Given the description of an element on the screen output the (x, y) to click on. 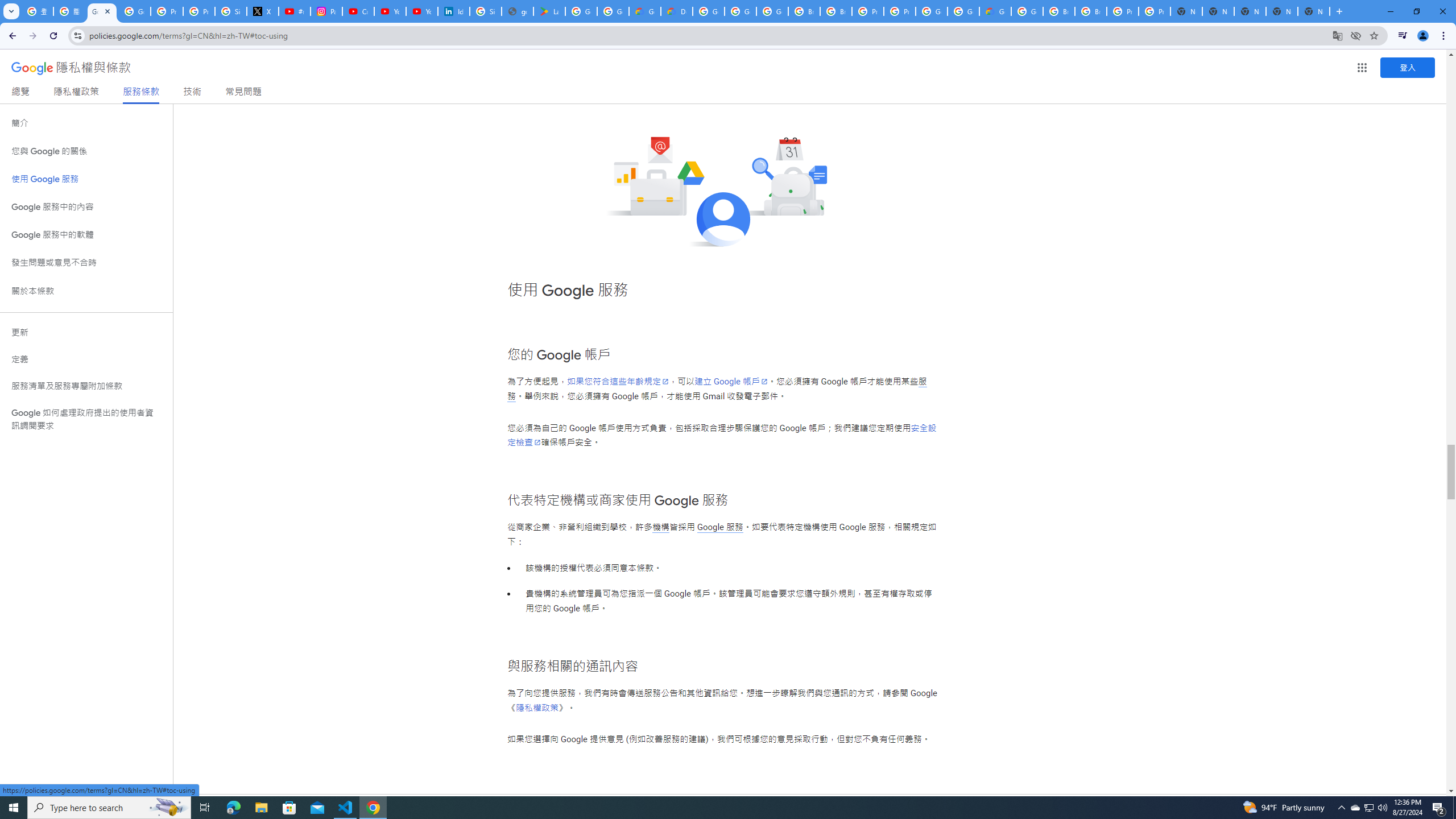
Government | Google Cloud (644, 11)
Google Cloud Estimate Summary (995, 11)
Privacy Help Center - Policies Help (166, 11)
